Given the description of an element on the screen output the (x, y) to click on. 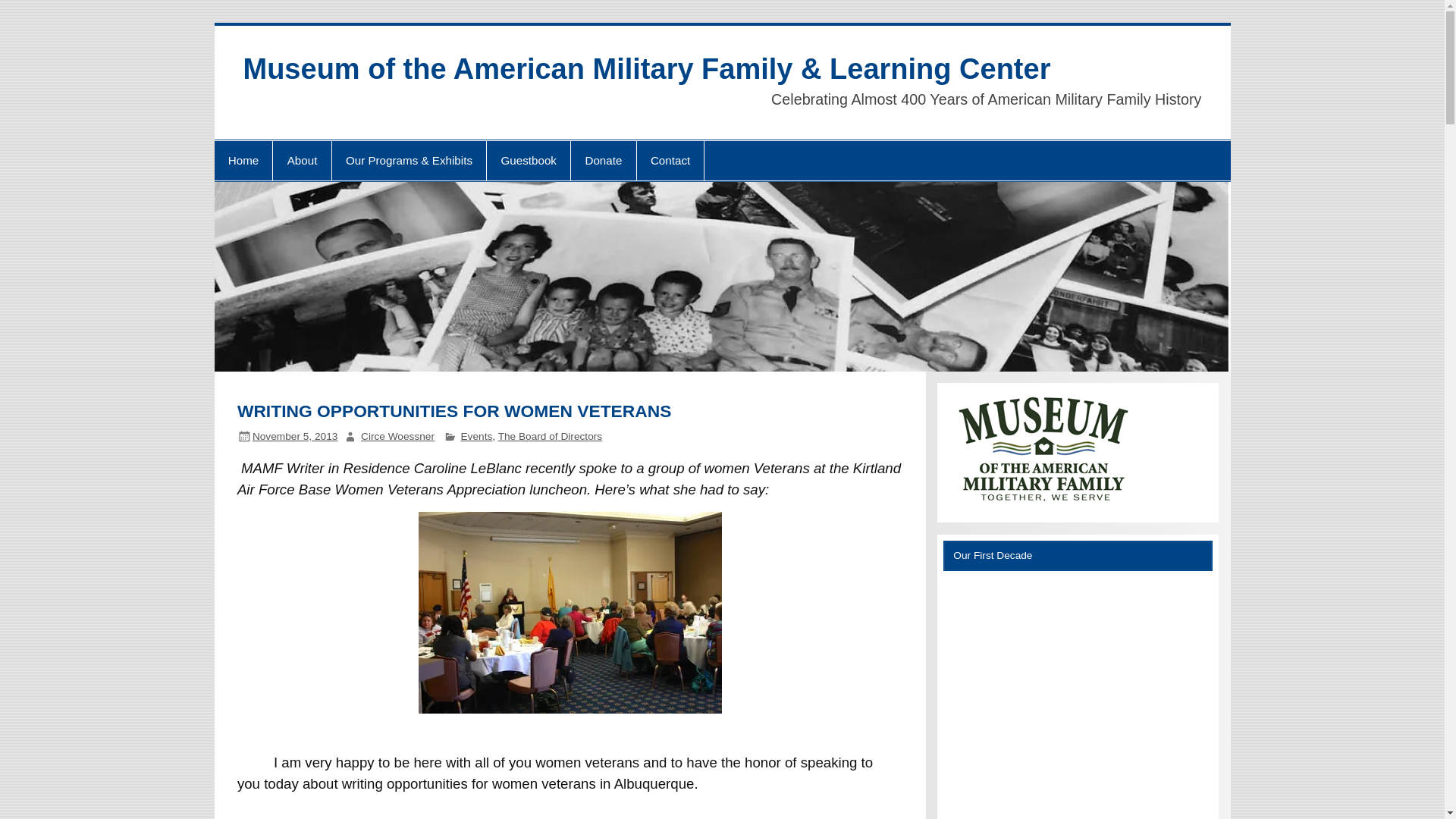
YouTube video player (1078, 700)
November 5, 2013 (294, 436)
Home (243, 160)
The Board of Directors (549, 436)
Guestbook (528, 160)
About (301, 160)
Donate (602, 160)
Events (476, 436)
Contact (670, 160)
View all posts by Circe Woessner (397, 436)
